Given the description of an element on the screen output the (x, y) to click on. 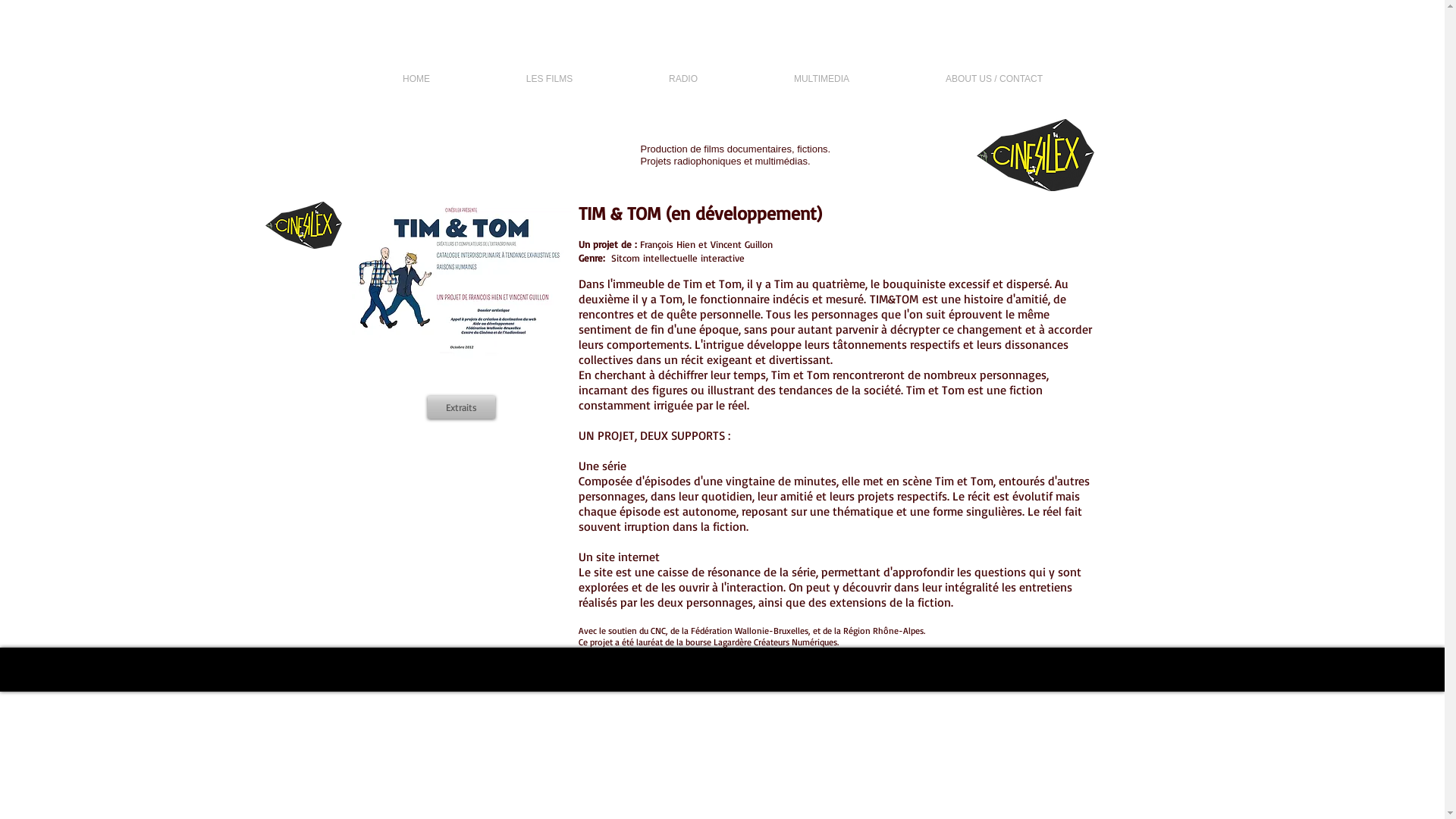
Extraits Element type: text (461, 406)
HOME Element type: text (416, 78)
TIM&TOM_ARTISTIQUE_FWB-P1.jpg Element type: hover (461, 279)
ABOUT US / CONTACT Element type: text (994, 78)
